Given the description of an element on the screen output the (x, y) to click on. 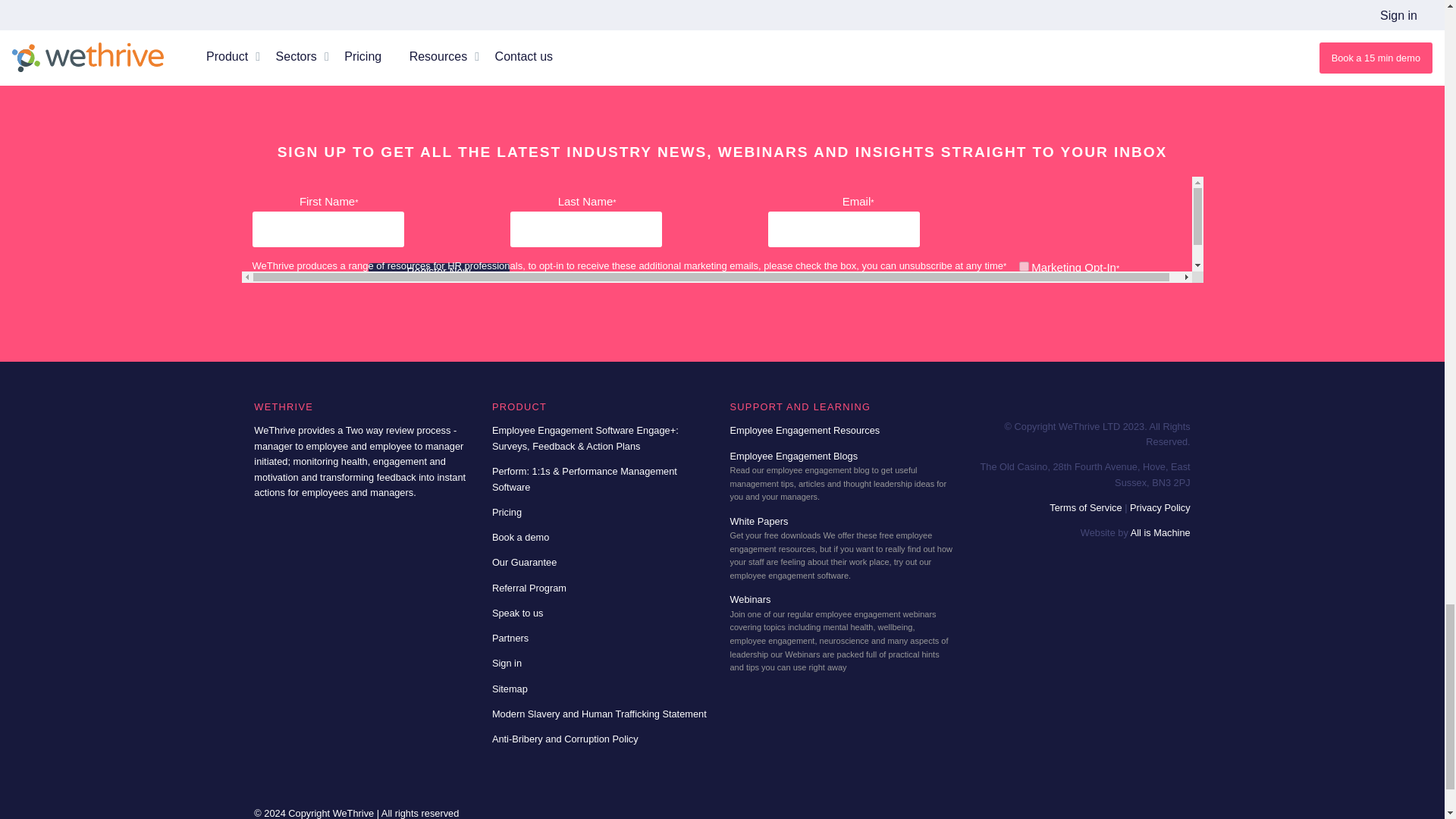
newsletter sign up wethrive (721, 229)
